Given the description of an element on the screen output the (x, y) to click on. 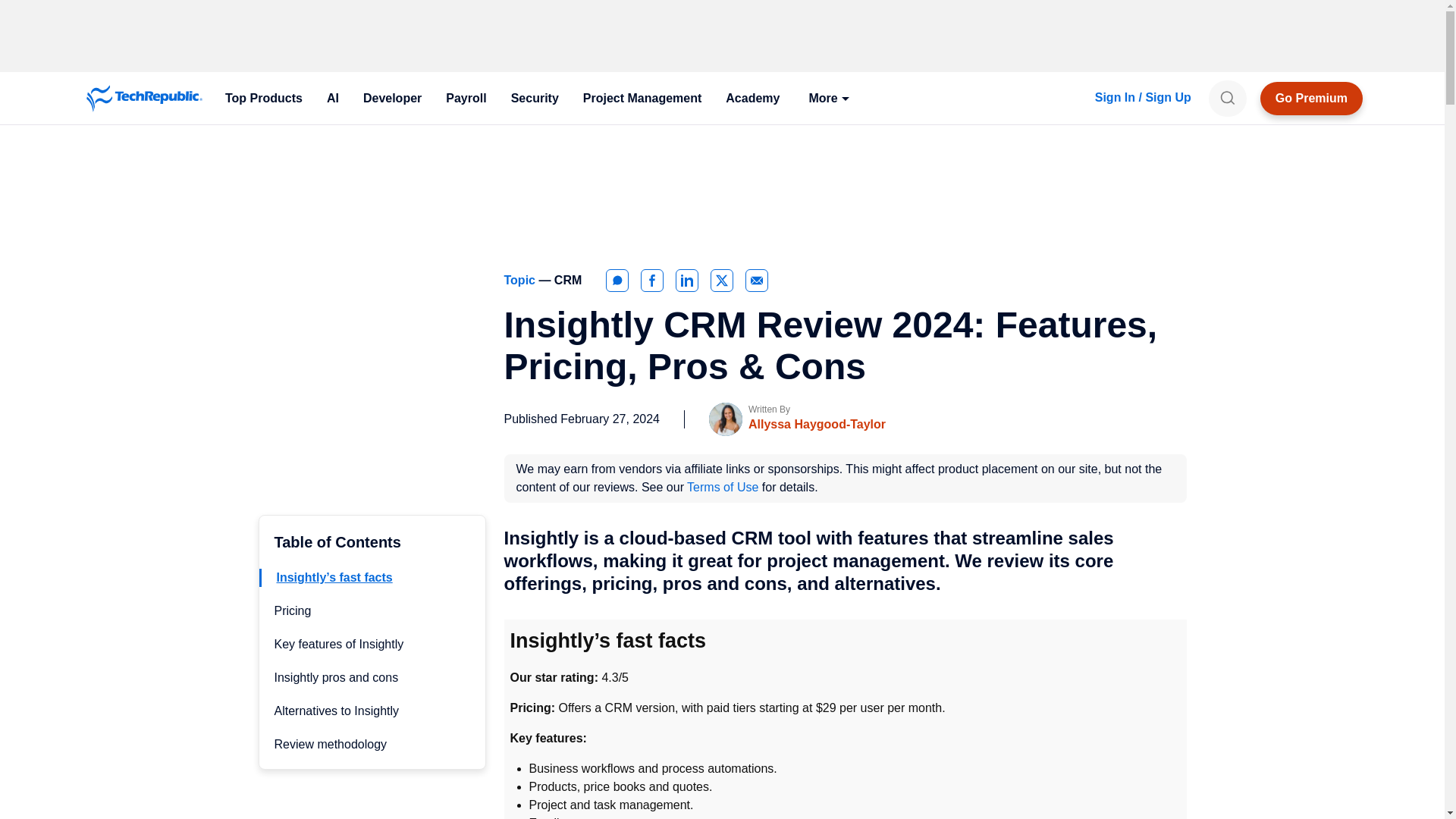
TechRepublic (143, 98)
Review methodology (331, 744)
Alternatives to Insightly (336, 710)
Payroll (465, 98)
Go Premium (1311, 98)
TechRepublic Premium (1311, 98)
Developer (392, 98)
Security (534, 98)
Academy (752, 98)
Insightly pros and cons (336, 676)
